Given the description of an element on the screen output the (x, y) to click on. 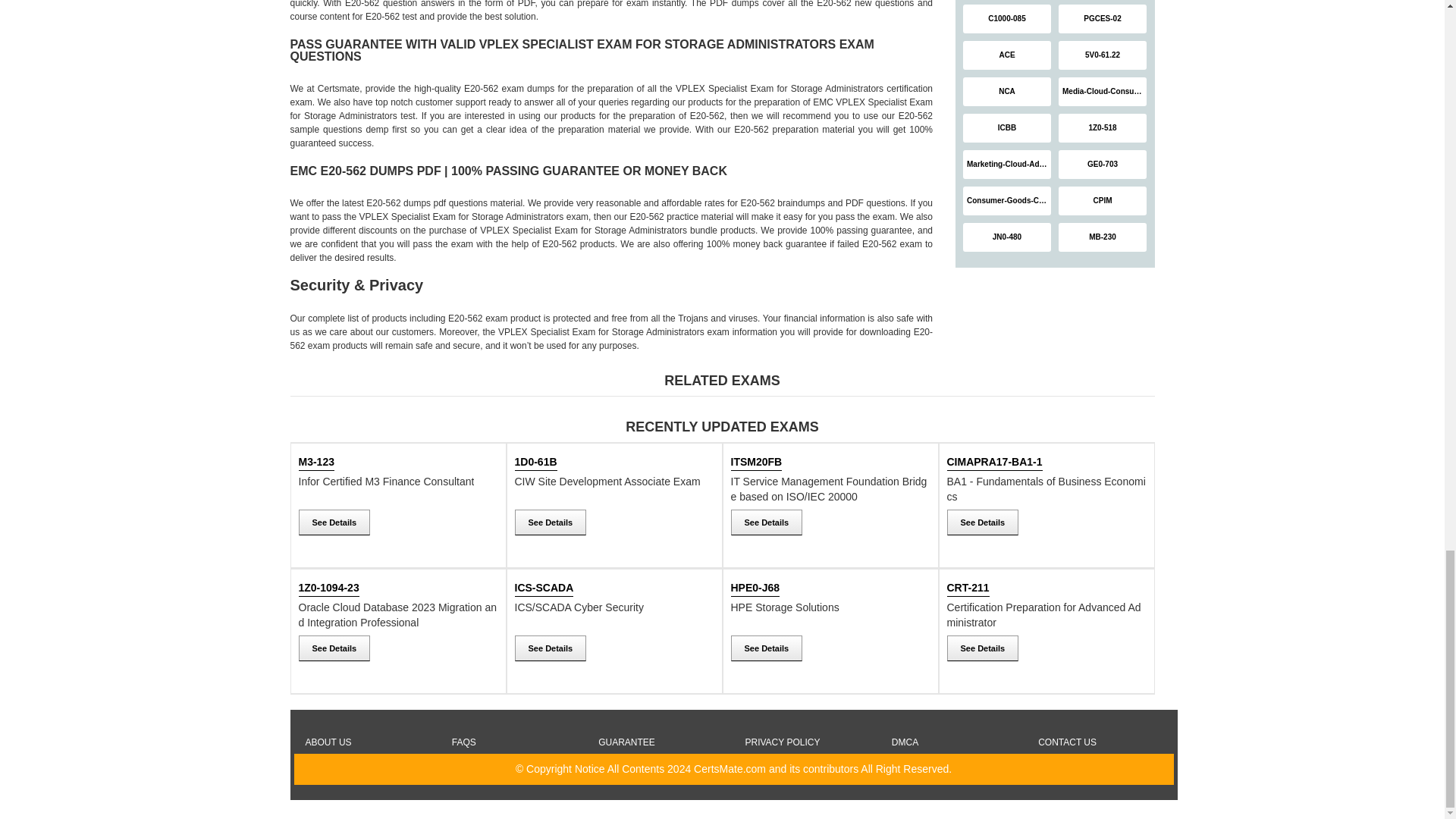
ACE (1006, 54)
C1000-085 (1006, 18)
PGCES-02 (1102, 18)
5V0-61.22 (1102, 54)
